Given the description of an element on the screen output the (x, y) to click on. 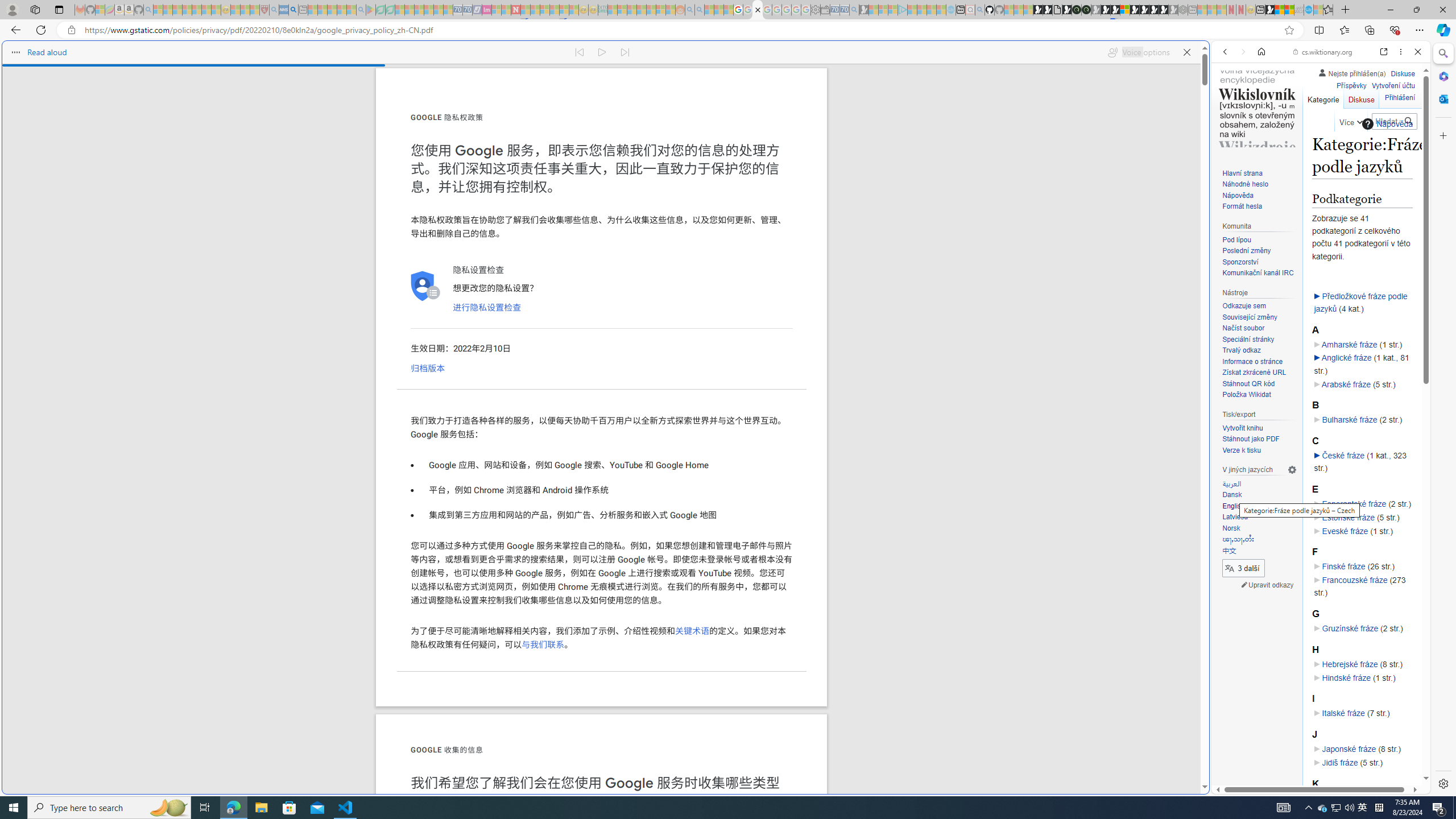
Play Zoo Boom in your browser | Games from Microsoft Start (1047, 9)
